Given the description of an element on the screen output the (x, y) to click on. 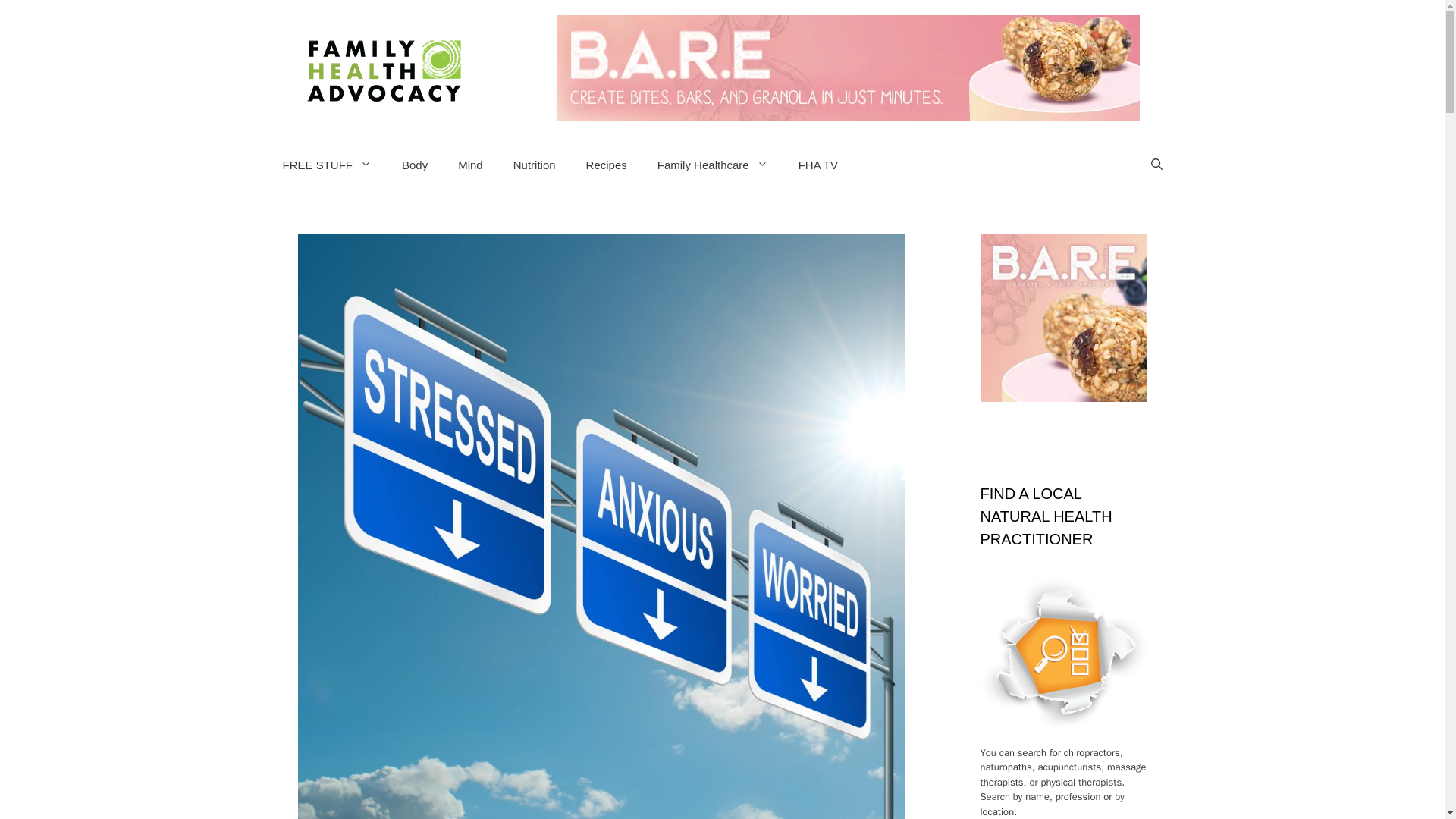
Body (414, 165)
Recipes (606, 165)
FREE STUFF (326, 165)
Nutrition (533, 165)
FHA TV (818, 165)
Family Healthcare (712, 165)
Mind (469, 165)
